Given the description of an element on the screen output the (x, y) to click on. 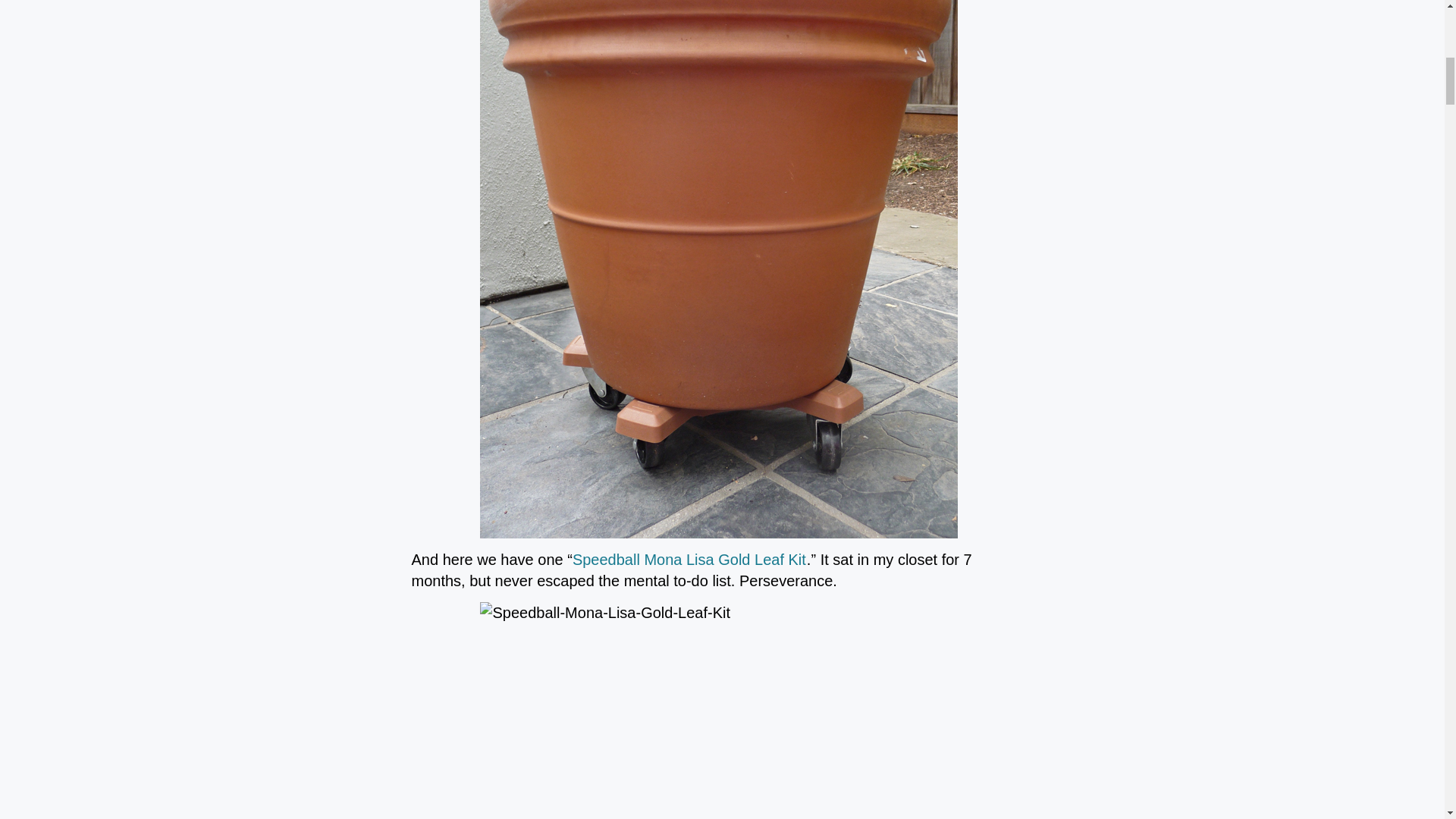
Speedball Mona Lisa Gold Leaf Kit (689, 559)
